Given the description of an element on the screen output the (x, y) to click on. 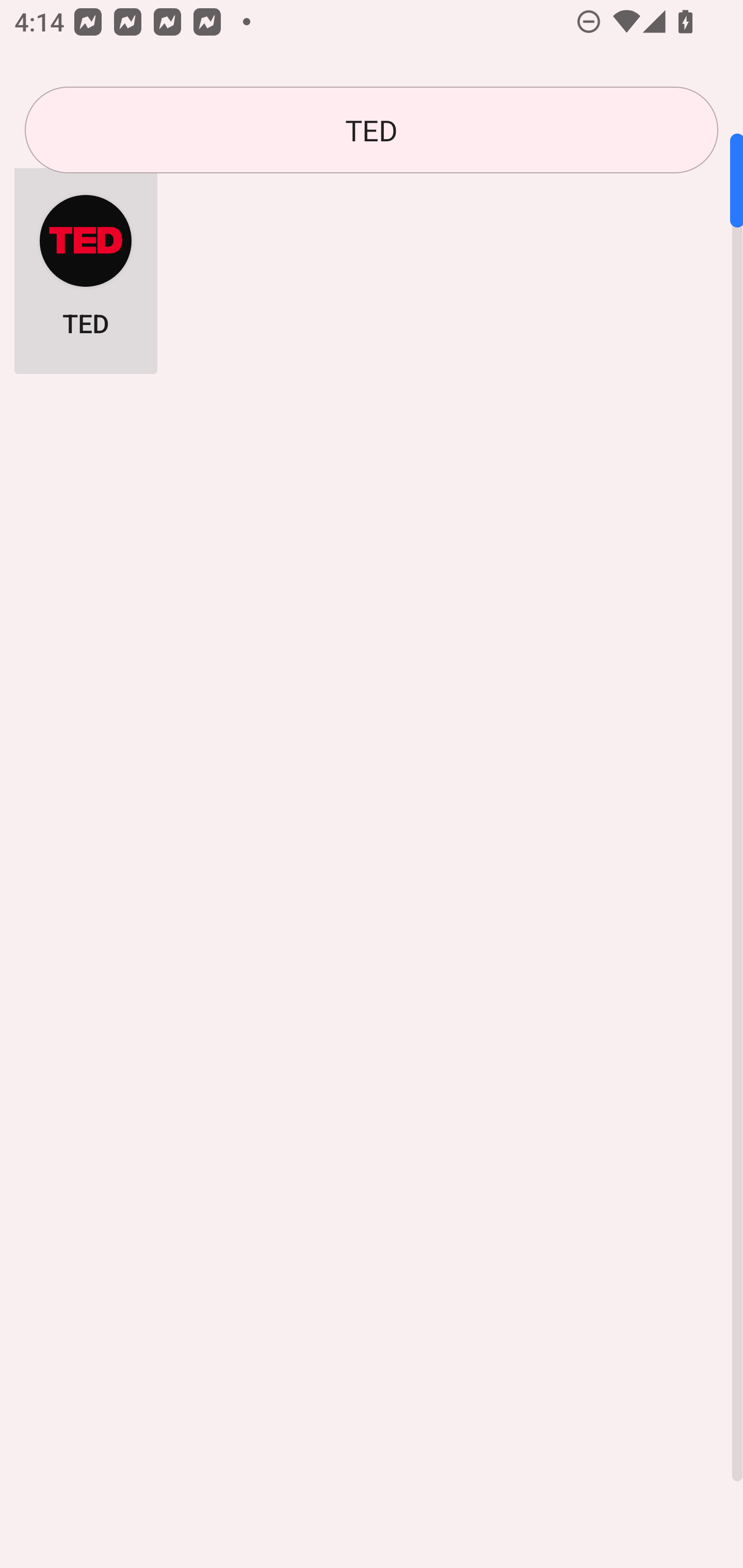
TED (371, 130)
TED (85, 264)
